Given the description of an element on the screen output the (x, y) to click on. 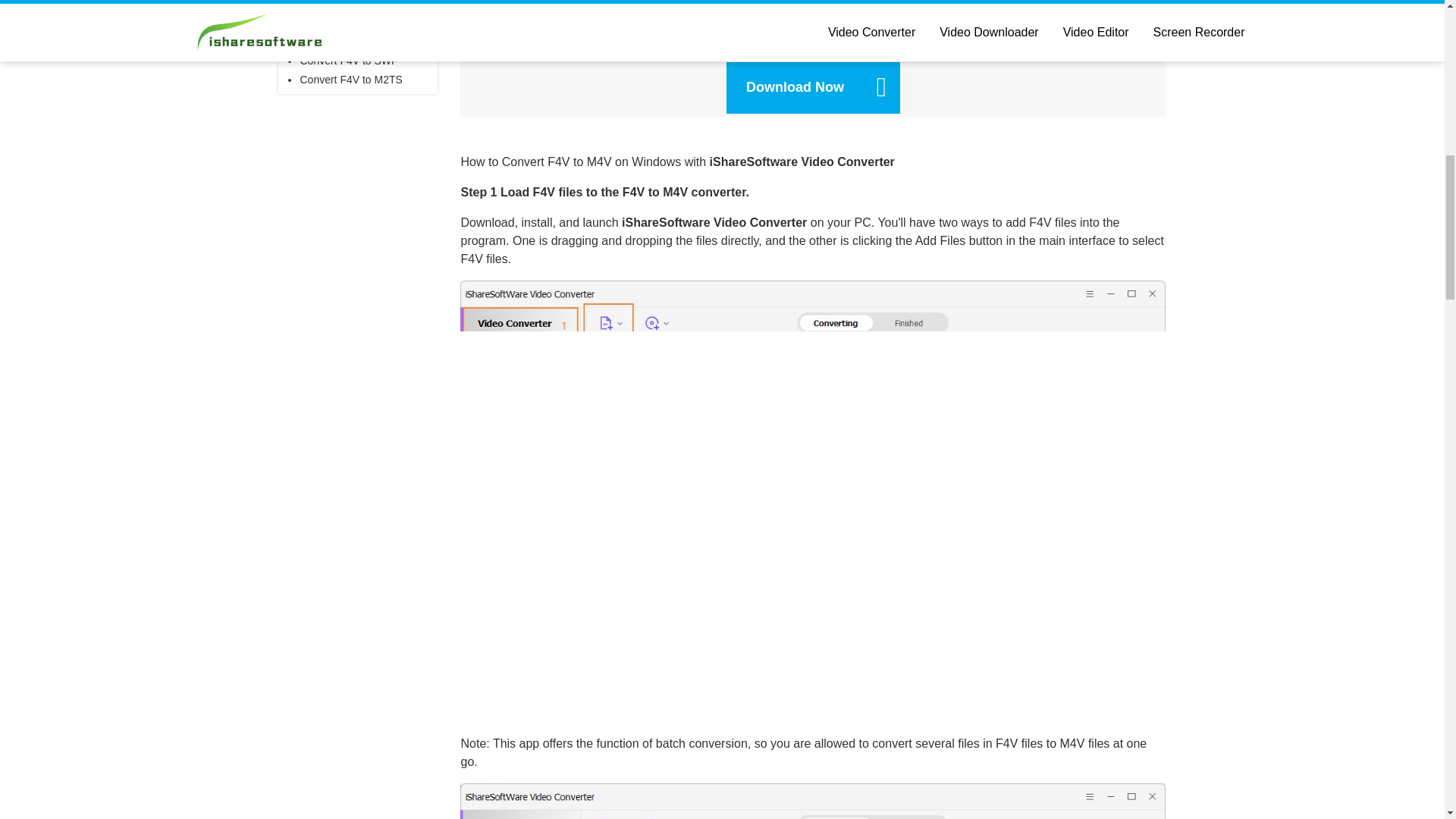
Convert F4V to SWF (348, 60)
Convert F4V to TRP (346, 4)
Convert F4V to FLV (346, 41)
Convert F4V to M2TS (350, 79)
Convert F4V to MPG (348, 22)
Download Now (812, 87)
